Given the description of an element on the screen output the (x, y) to click on. 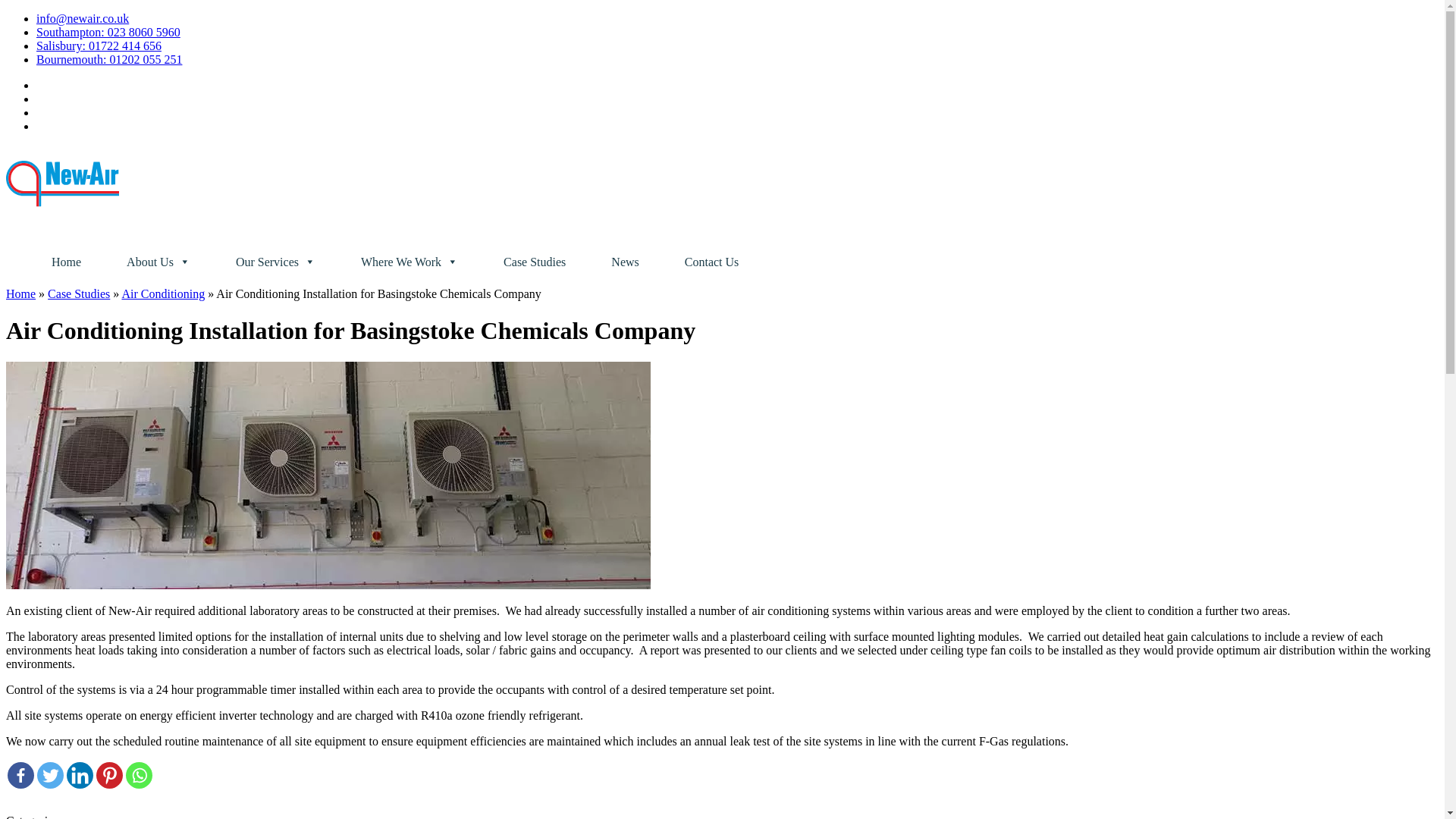
Click to call us (109, 59)
Case Studies (534, 261)
Contact Us (711, 261)
Where We Work (409, 261)
Home (65, 261)
Case Studies (79, 293)
Southampton: 023 8060 5960 (108, 31)
About Us (158, 261)
Bournemouth: 01202 055 251 (109, 59)
Home (65, 261)
Home (19, 293)
Air Conditioning (162, 293)
Click to call us (98, 45)
Our Services (275, 261)
Salisbury: 01722 414 656 (98, 45)
